Given the description of an element on the screen output the (x, y) to click on. 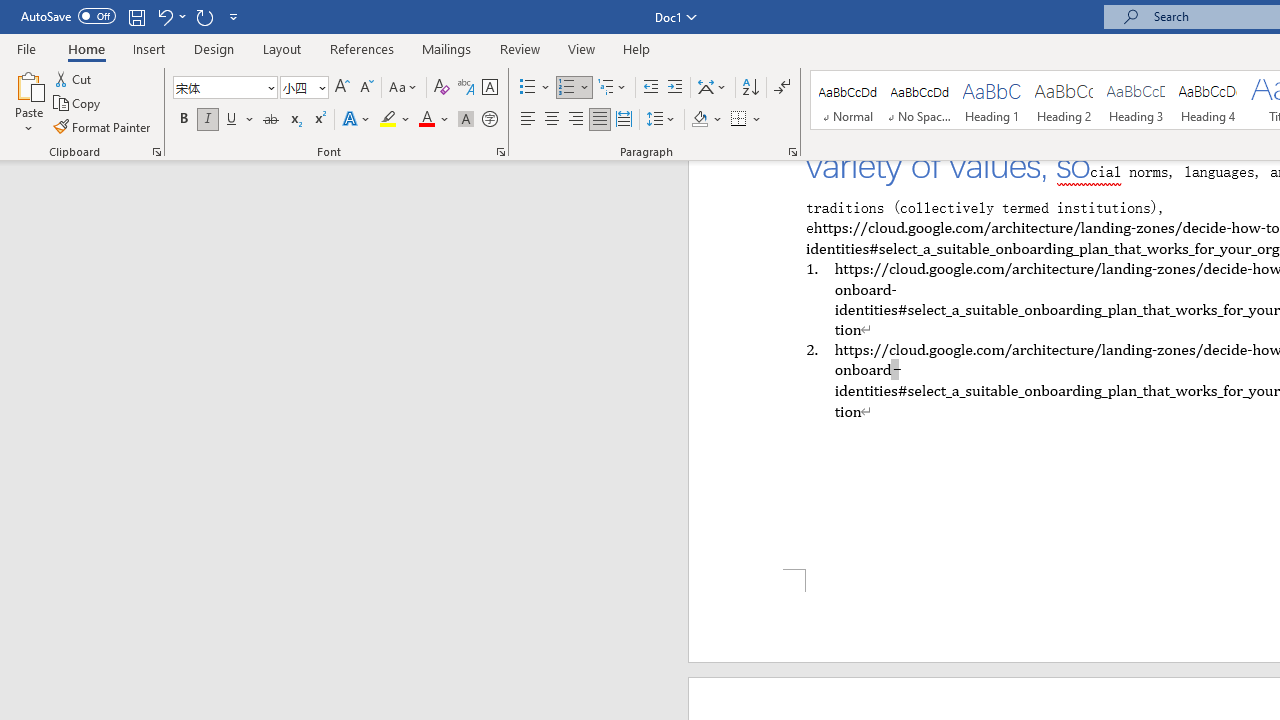
Heading 2 (1063, 100)
